Given the description of an element on the screen output the (x, y) to click on. 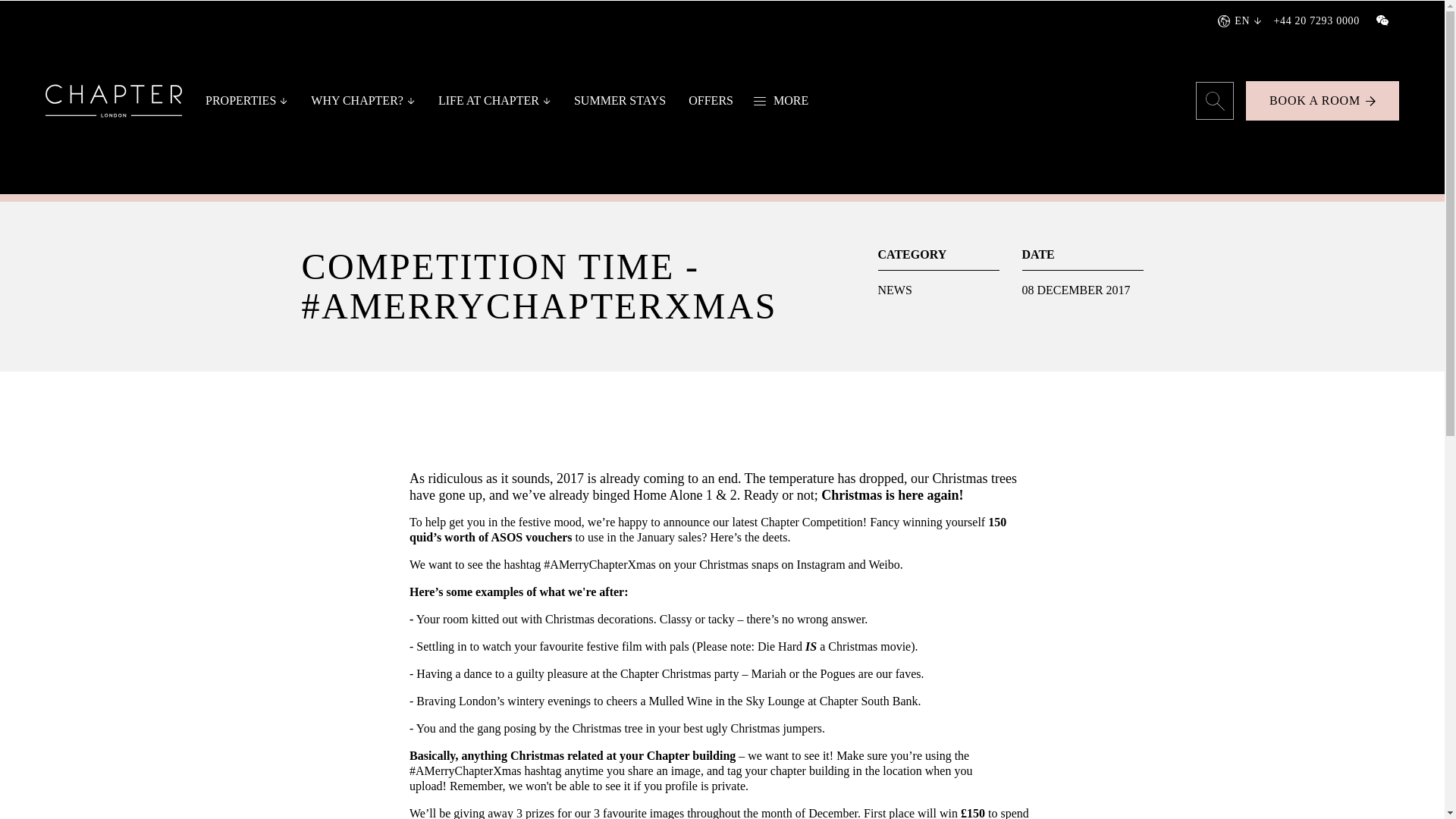
REVIEWS (753, 141)
BLOGS (501, 141)
WHY CHAPTER? (356, 100)
OFFERS (710, 100)
OUR STORY (349, 141)
Search (1214, 100)
EN (1233, 20)
EN (1205, 59)
Chat to Chapter (1382, 20)
MORE (782, 100)
SUMMER STAYS (619, 100)
Phone Chapter (1315, 20)
PROPERTIES (239, 100)
BOOK A ROOM (1322, 100)
MEET THE TEAM (349, 137)
